Given the description of an element on the screen output the (x, y) to click on. 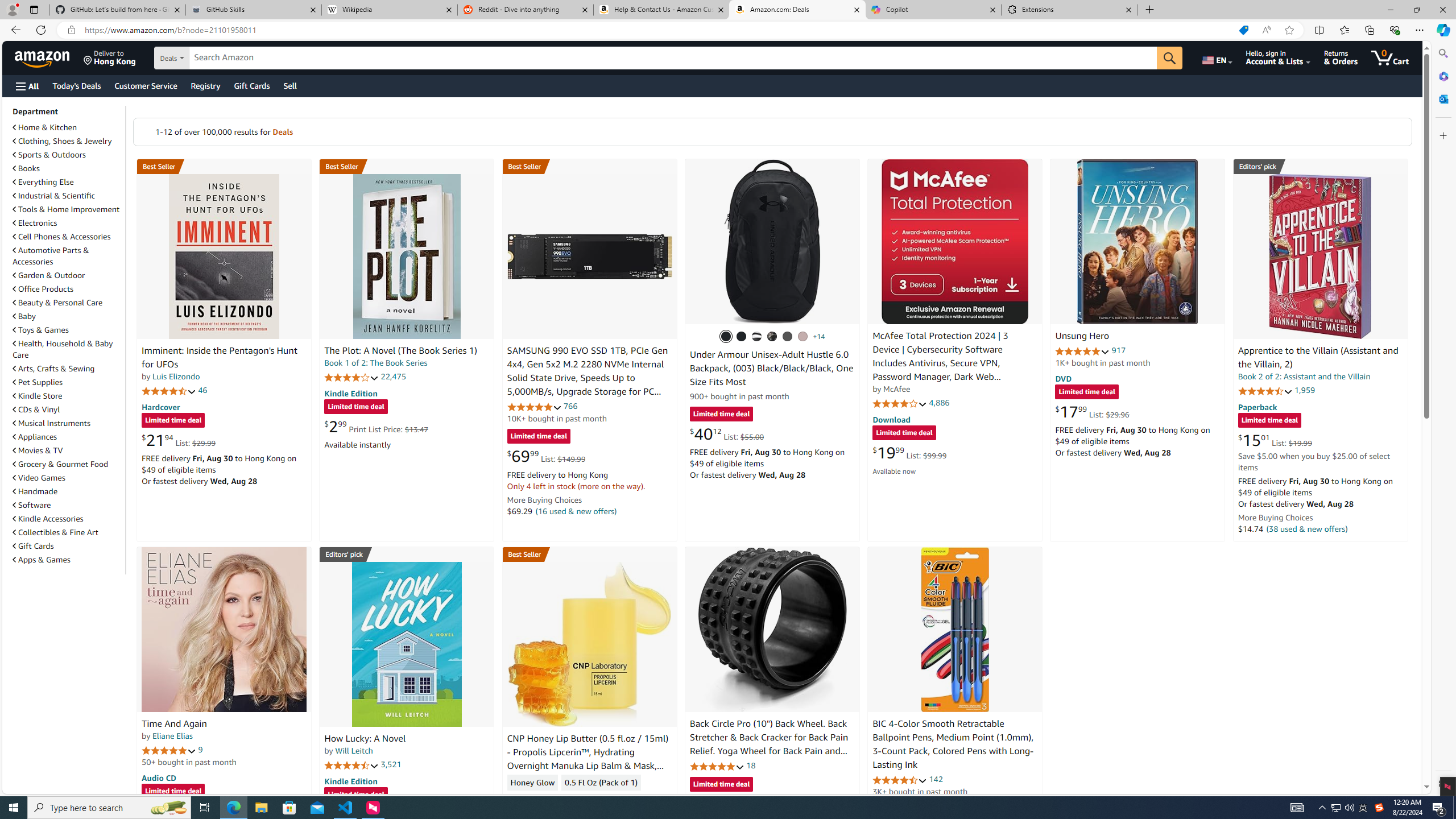
Best Seller in Lip Butters (589, 553)
Handmade (35, 491)
Books (67, 167)
Apprentice to the Villain (Assistant and the Villain, 2) (1318, 358)
Search in (210, 58)
46 (203, 390)
3,521 (390, 764)
0 items in cart (1389, 57)
4.3 out of 5 stars (534, 799)
5.0 out of 5 stars (168, 750)
(002) Black / Black / White (756, 336)
